Given the description of an element on the screen output the (x, y) to click on. 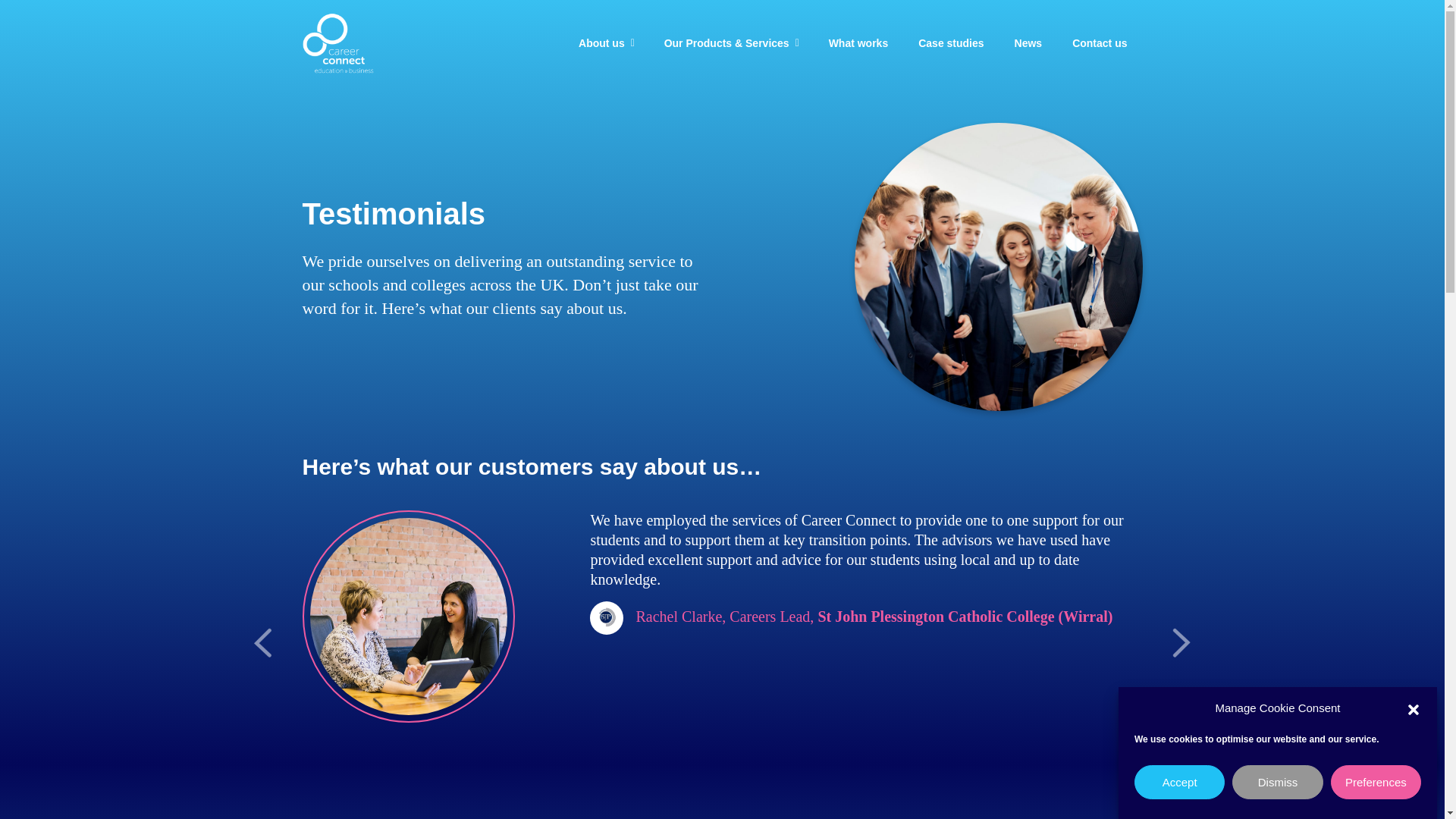
What works (858, 43)
About us (606, 43)
About us (606, 43)
Contact us (1099, 43)
News (1028, 43)
Contact us (1099, 43)
Case studies (950, 43)
News (1028, 43)
What works (858, 43)
Case studies (950, 43)
